Given the description of an element on the screen output the (x, y) to click on. 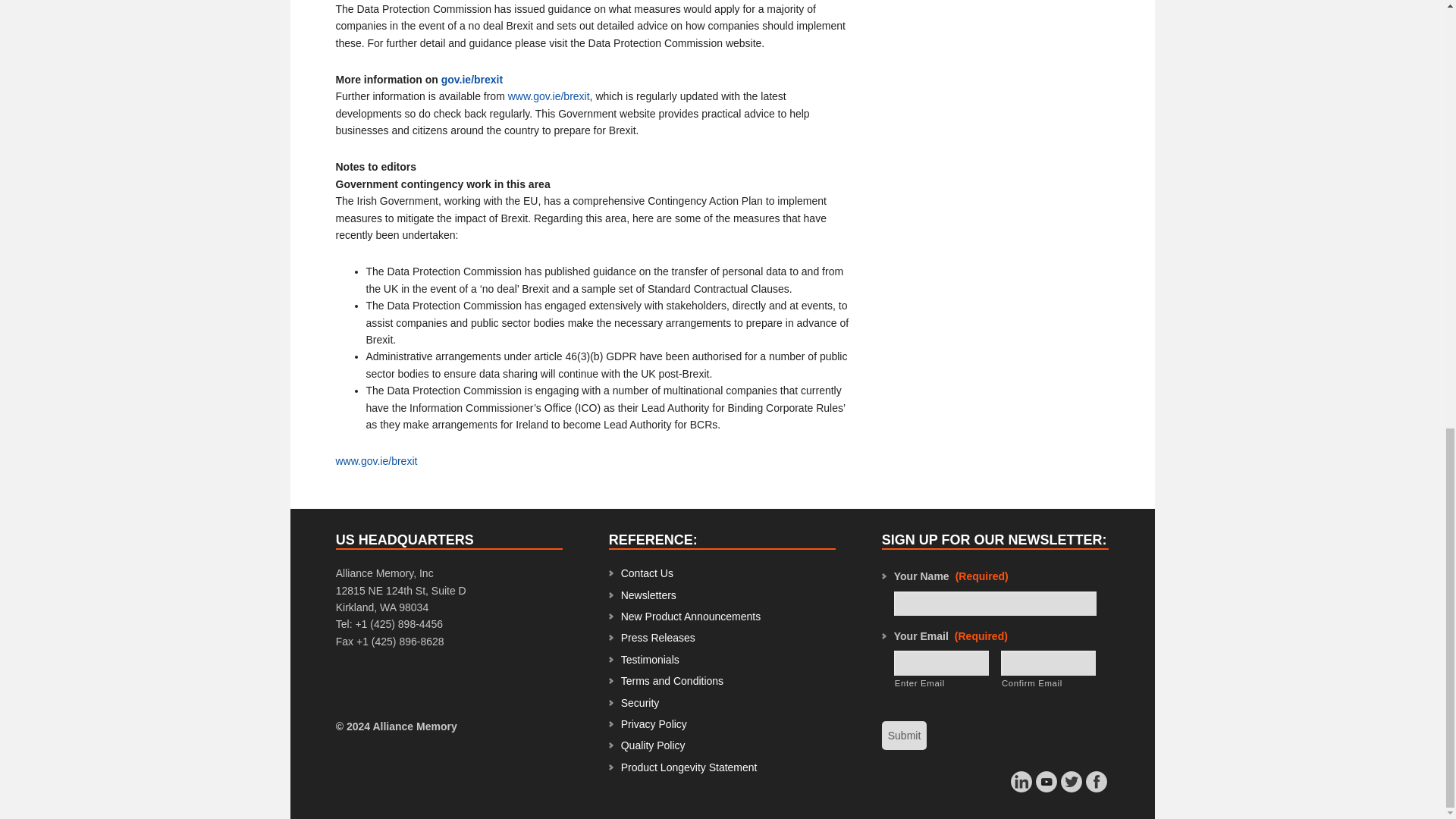
Visit Us On Facebook (1095, 787)
Visit Us On Linkedin (1021, 787)
Visit Us On Twitter (1070, 787)
Submit (904, 735)
Visit Us On Youtube (1045, 787)
